Given the description of an element on the screen output the (x, y) to click on. 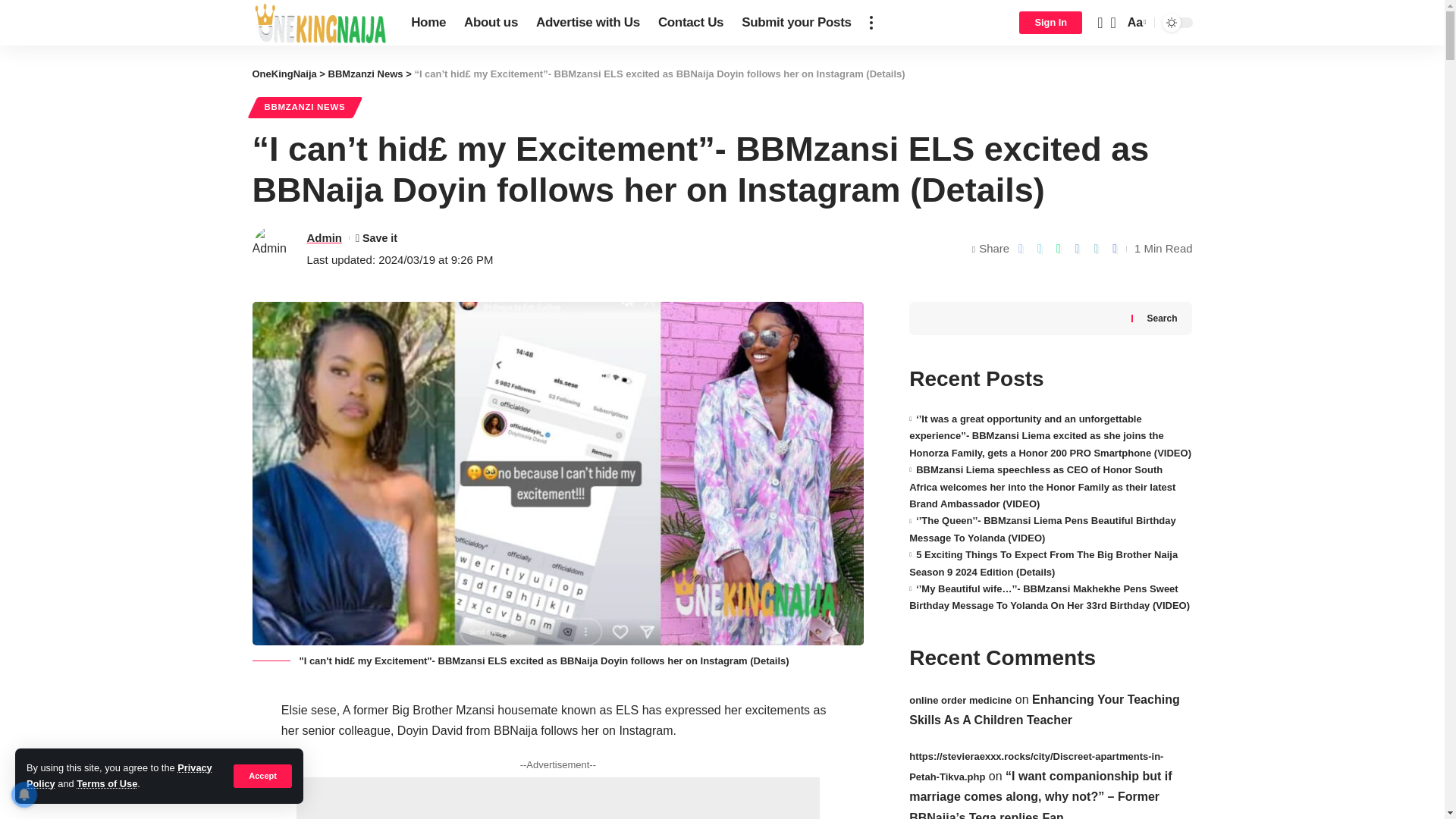
BBMzanzi News (366, 73)
Sign In (1050, 22)
Go to OneKingNaija. (283, 73)
Go to the BBMzanzi News Category archives. (366, 73)
Advertisement (558, 798)
OneKingNaija (319, 22)
Contact Us (690, 22)
Privacy Policy (119, 775)
Home (427, 22)
Terms of Use (106, 783)
Aa (1135, 22)
OneKingNaija (283, 73)
About us (490, 22)
BBMZANZI NEWS (303, 107)
Accept (262, 775)
